Given the description of an element on the screen output the (x, y) to click on. 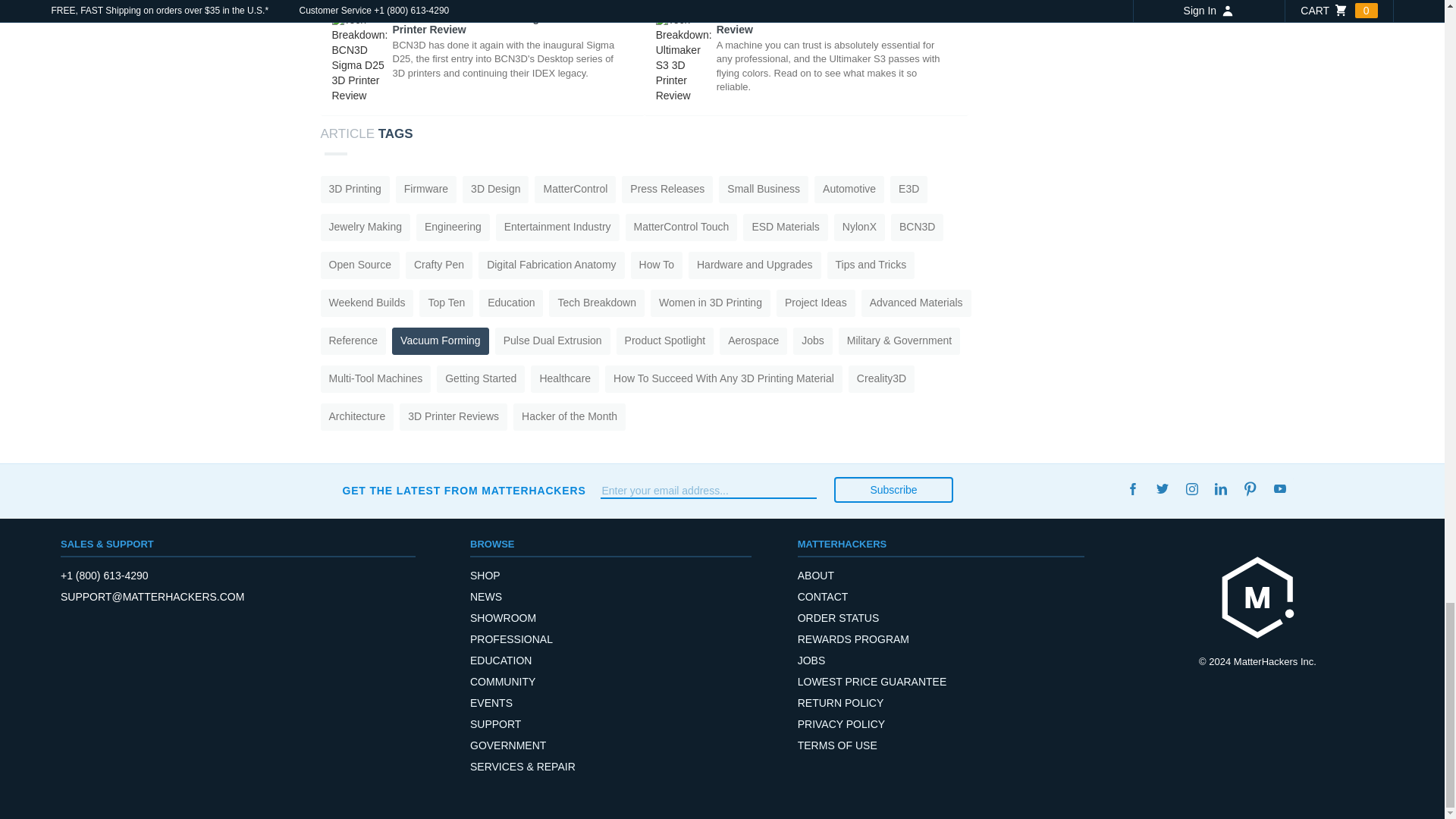
Tech Breakdown: Ultimaker S3 3D Printer Review (806, 58)
Tech Breakdown: BCN3D Sigma D25 3D Printer Review (481, 58)
